Given the description of an element on the screen output the (x, y) to click on. 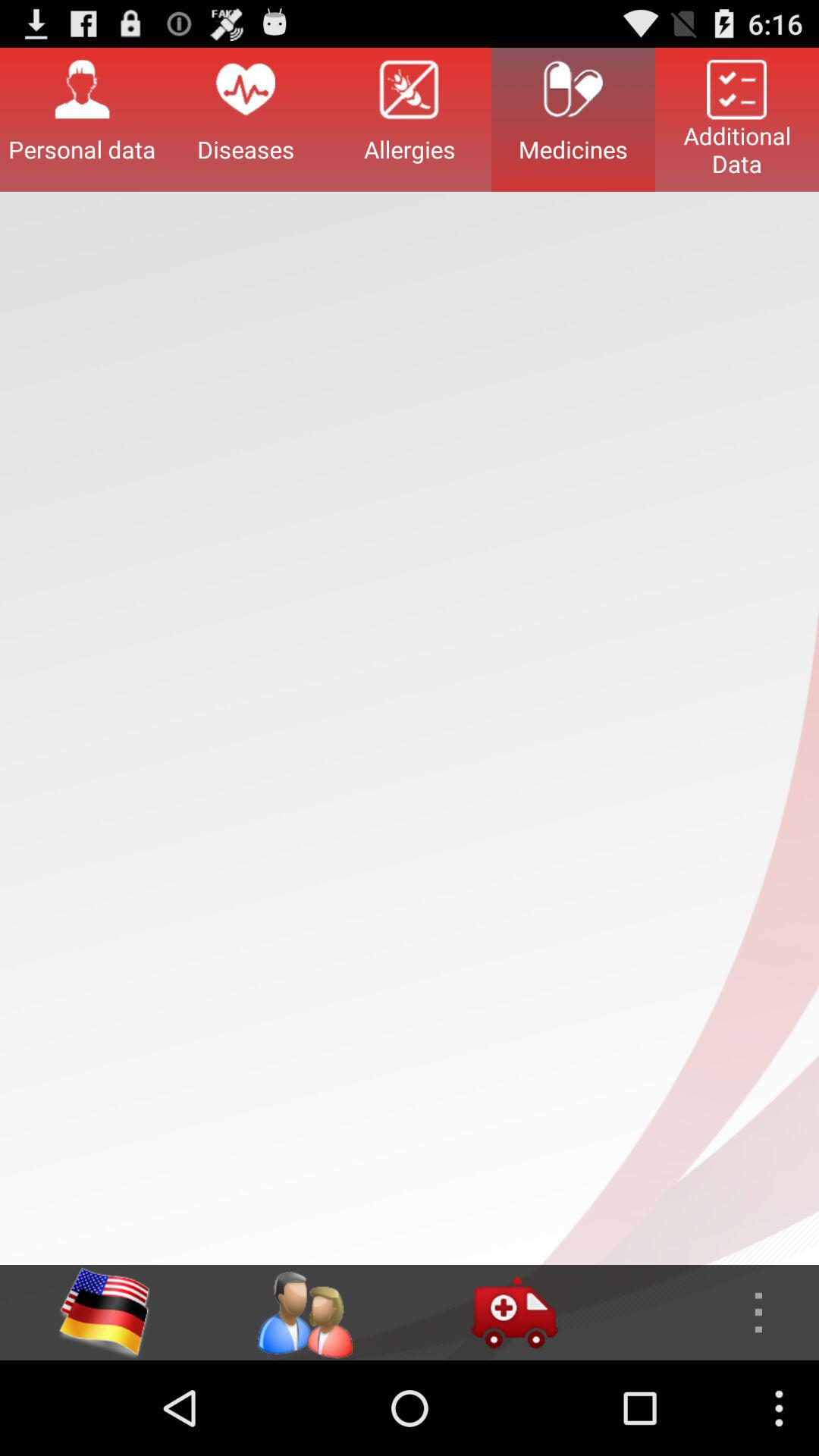
select the icon to the right of medicines button (737, 119)
